Given the description of an element on the screen output the (x, y) to click on. 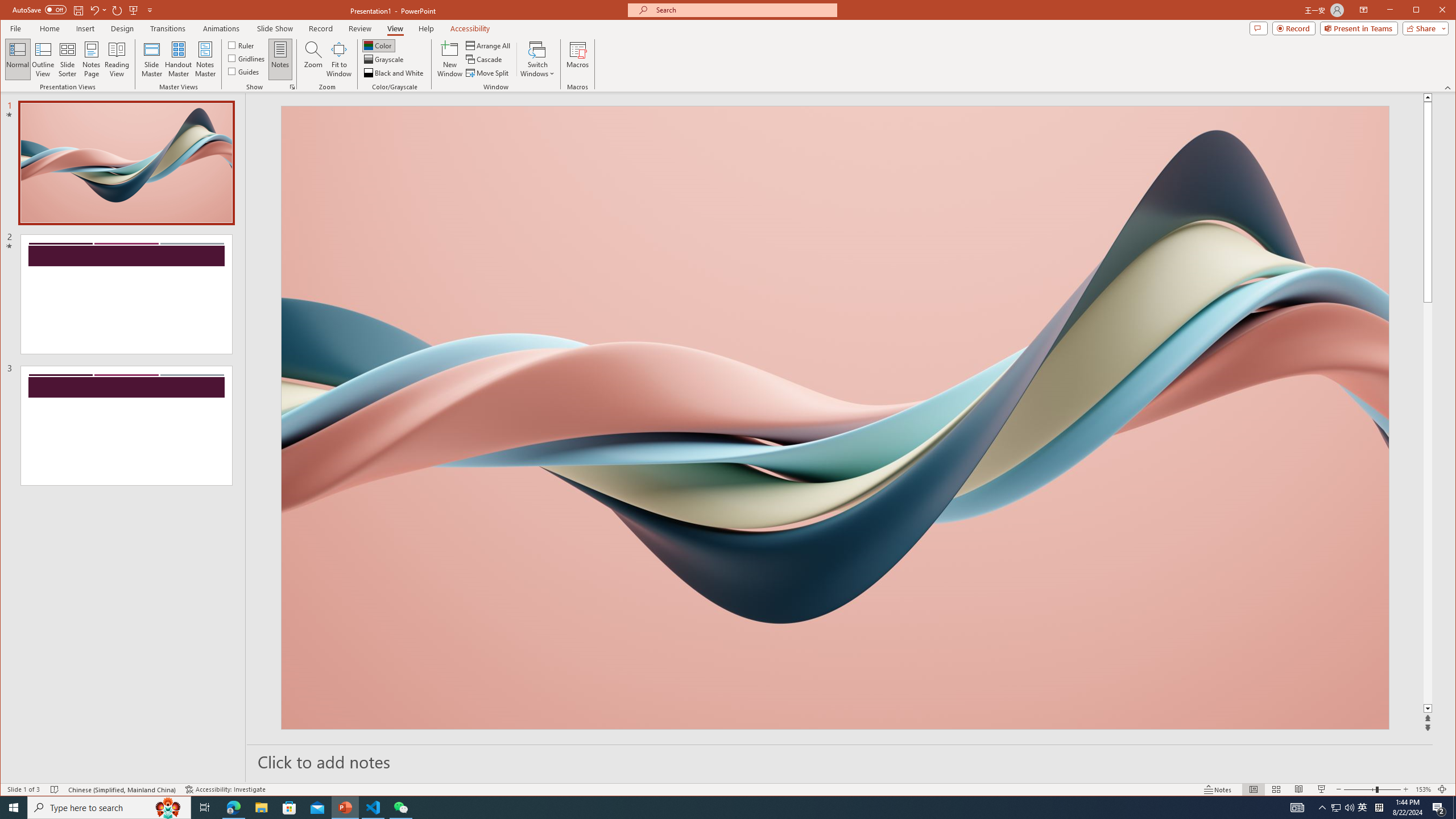
Notes (279, 59)
Color (378, 45)
Zoom... (312, 59)
